Given the description of an element on the screen output the (x, y) to click on. 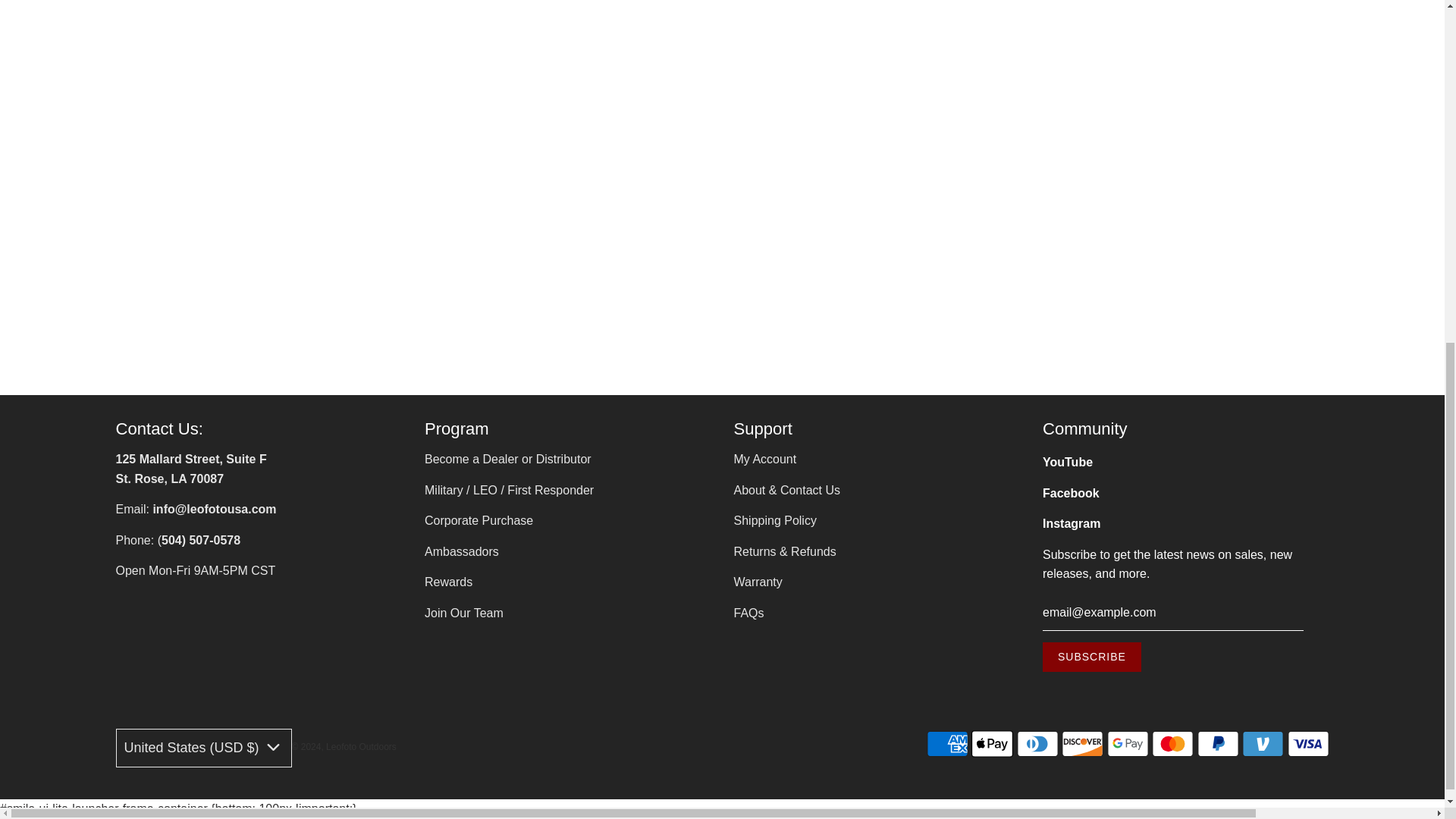
Diners Club (1037, 743)
Subscribe (1091, 657)
Mastercard (1172, 743)
Discover (1082, 743)
Apple Pay (992, 743)
Visa (1308, 743)
PayPal (1217, 743)
Venmo (1262, 743)
Google Pay (1127, 743)
American Express (947, 743)
